Given the description of an element on the screen output the (x, y) to click on. 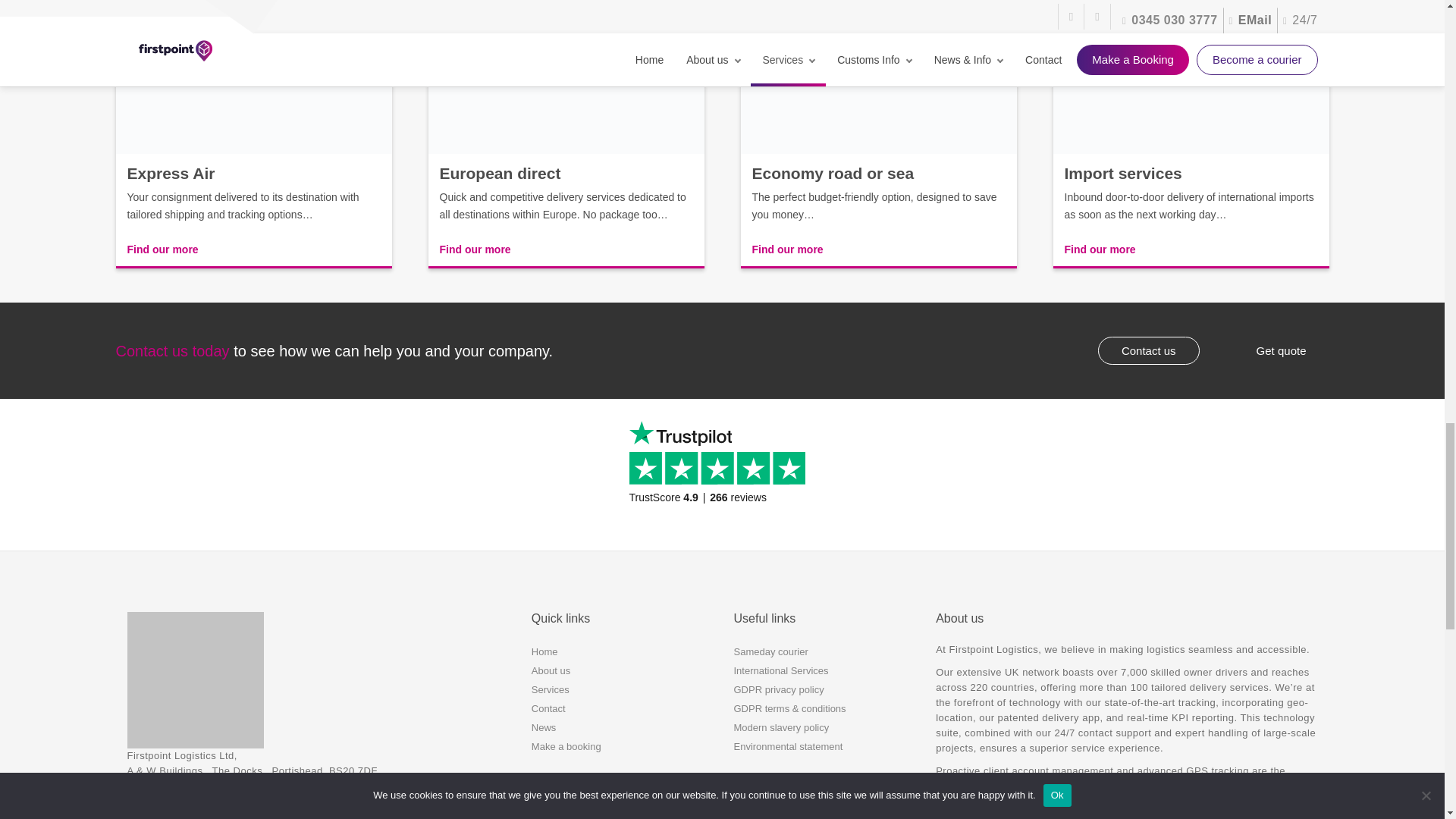
Get quote (1281, 350)
EMail (150, 795)
About us (550, 670)
Customer reviews powered by Trustpilot (721, 474)
Contact us (1148, 350)
Services (550, 689)
Home (544, 651)
Contact (548, 708)
News (543, 727)
